Given the description of an element on the screen output the (x, y) to click on. 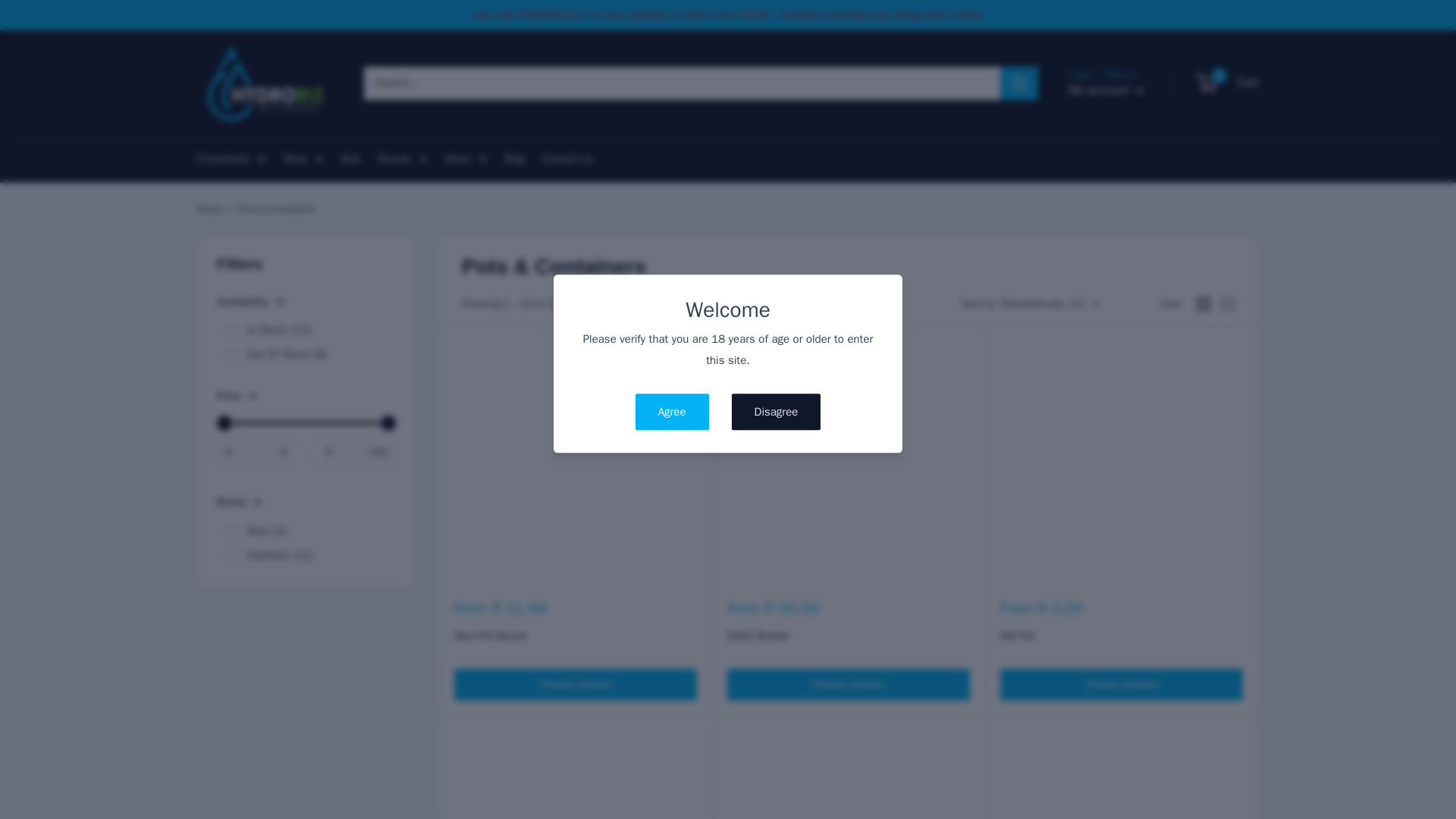
Agree (671, 411)
Hydrobiz (229, 554)
0 (229, 354)
Bato (229, 530)
0 (306, 423)
760 (306, 423)
Disagree (776, 411)
1 (229, 330)
